Given the description of an element on the screen output the (x, y) to click on. 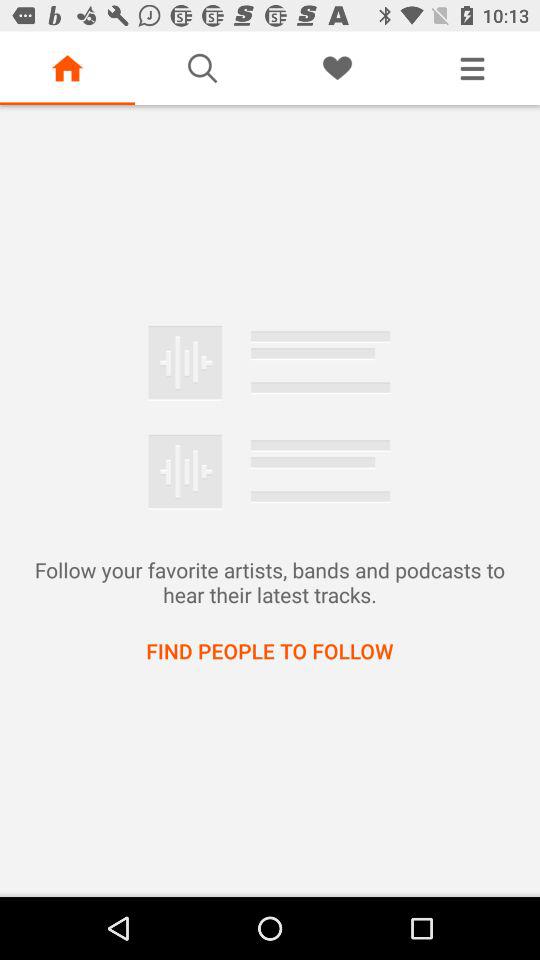
scroll to the find people to icon (269, 650)
